Given the description of an element on the screen output the (x, y) to click on. 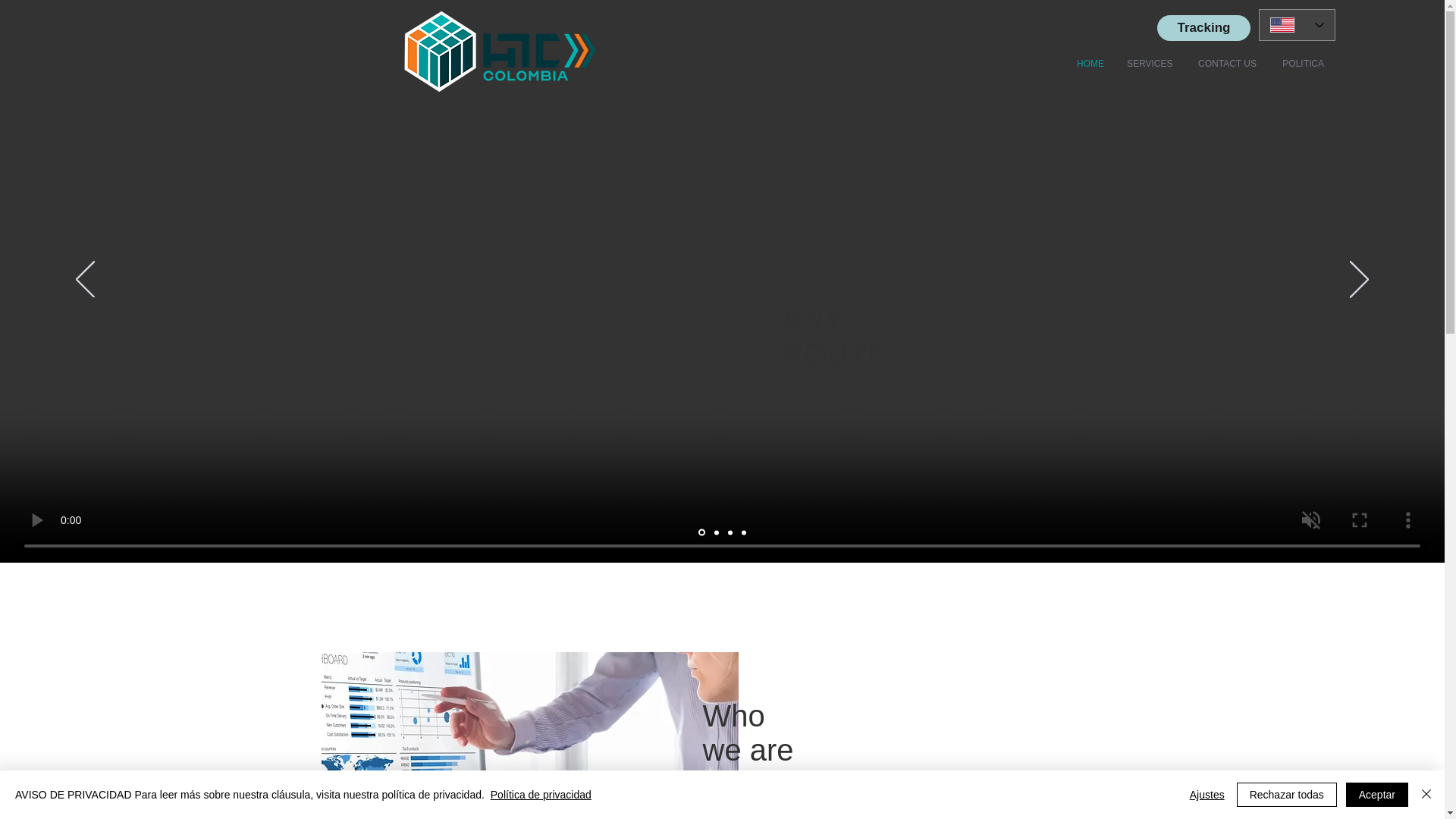
HOME (1088, 63)
Aceptar (1376, 794)
Rechazar todas (1286, 794)
Tracking (1203, 27)
POLITICA (1301, 63)
CONTACT US (1225, 63)
SERVICES (1149, 63)
